Given the description of an element on the screen output the (x, y) to click on. 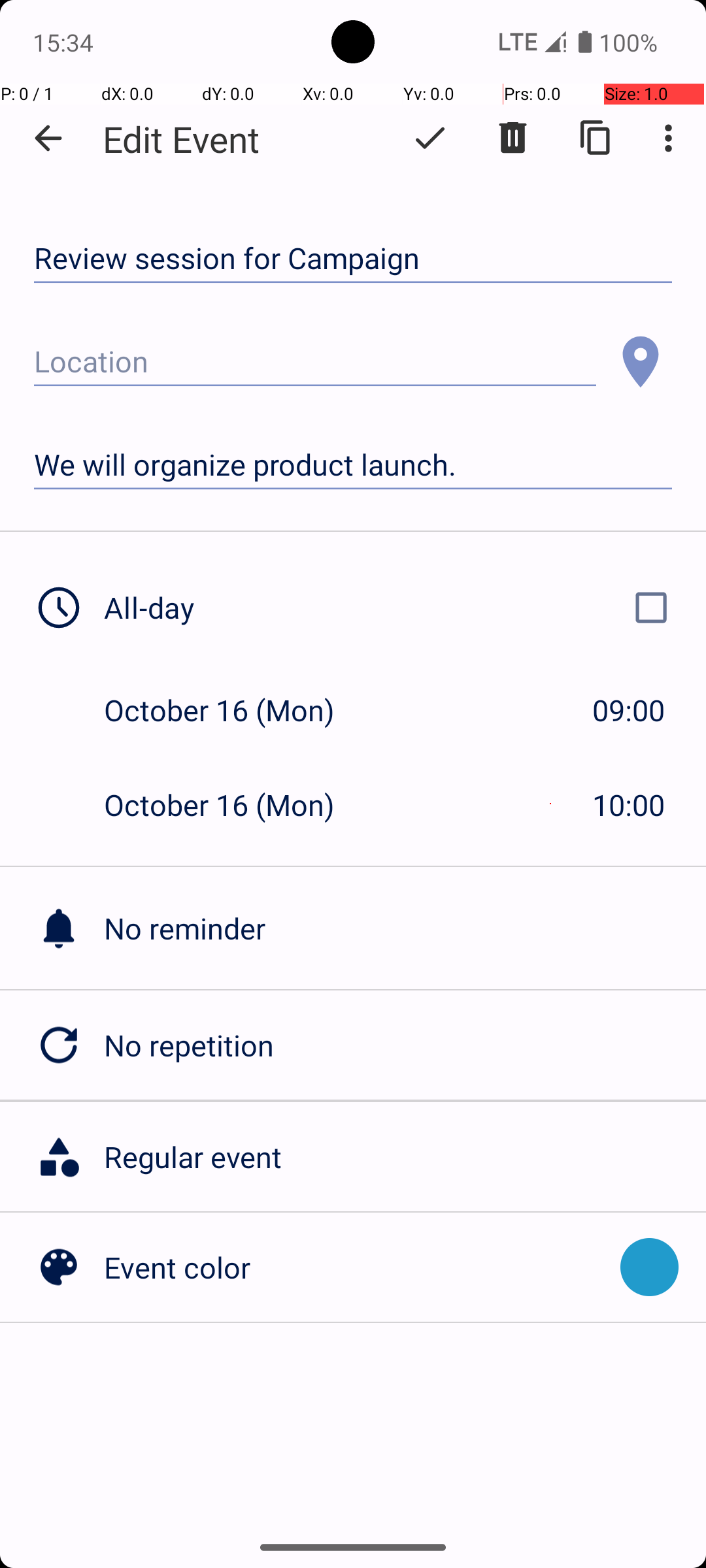
We will organize product launch. Element type: android.widget.EditText (352, 465)
